Given the description of an element on the screen output the (x, y) to click on. 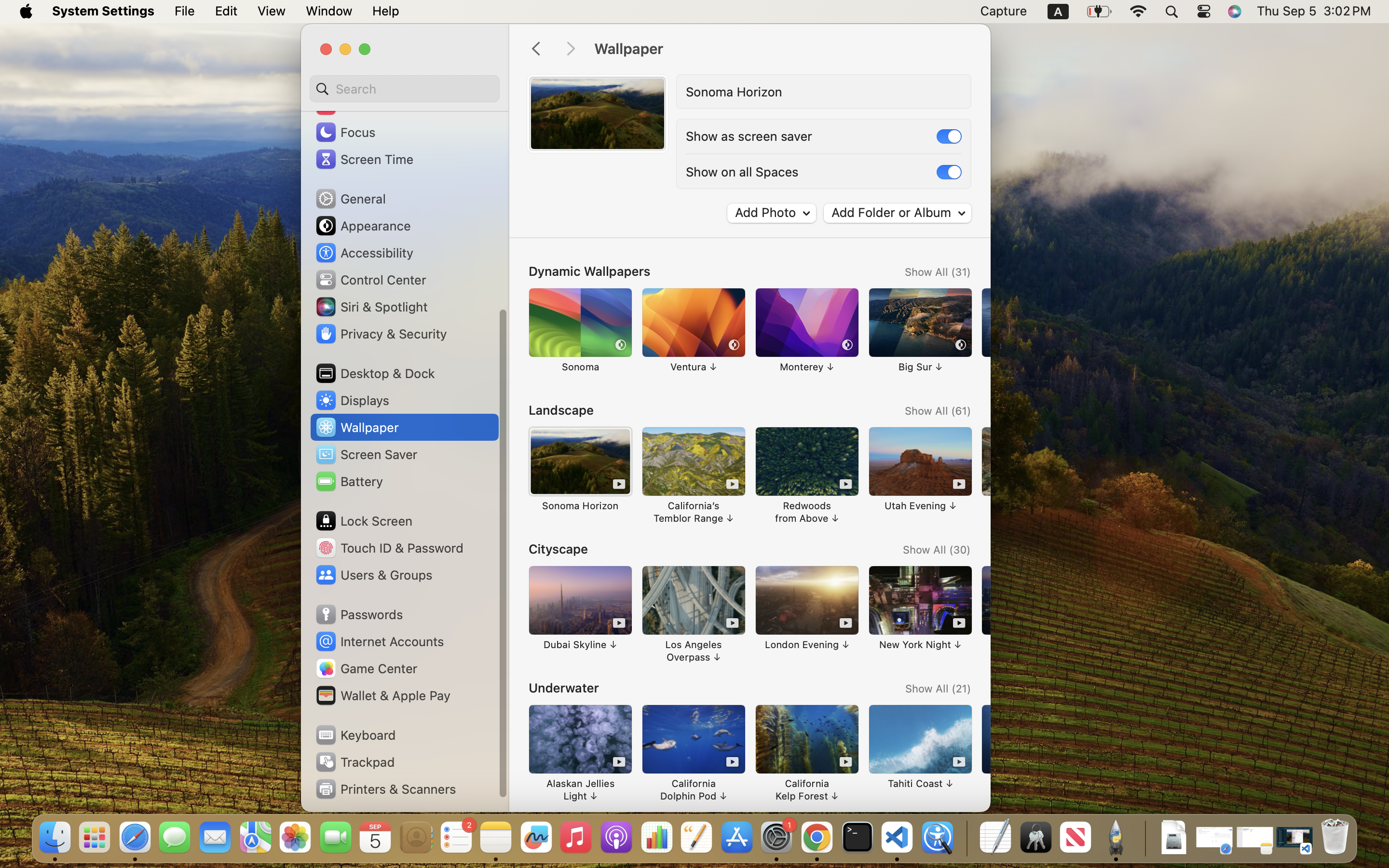
Wallpaper Element type: AXStaticText (782, 49)
Internet Accounts Element type: AXStaticText (378, 640)
Keyboard Element type: AXStaticText (354, 734)
Trackpad Element type: AXStaticText (354, 761)
Battery Element type: AXStaticText (348, 480)
